Given the description of an element on the screen output the (x, y) to click on. 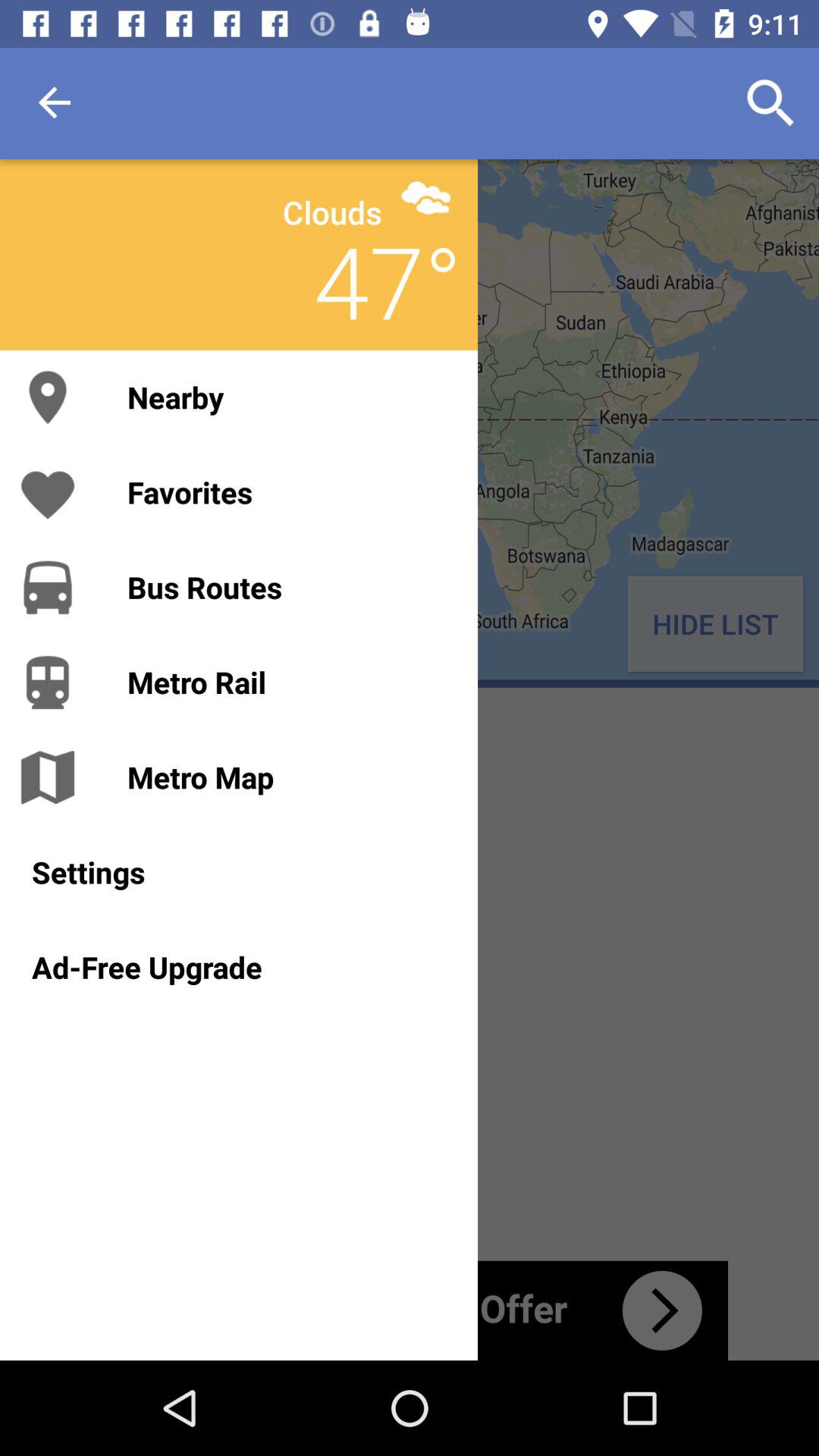
tap bus routes item (286, 587)
